Given the description of an element on the screen output the (x, y) to click on. 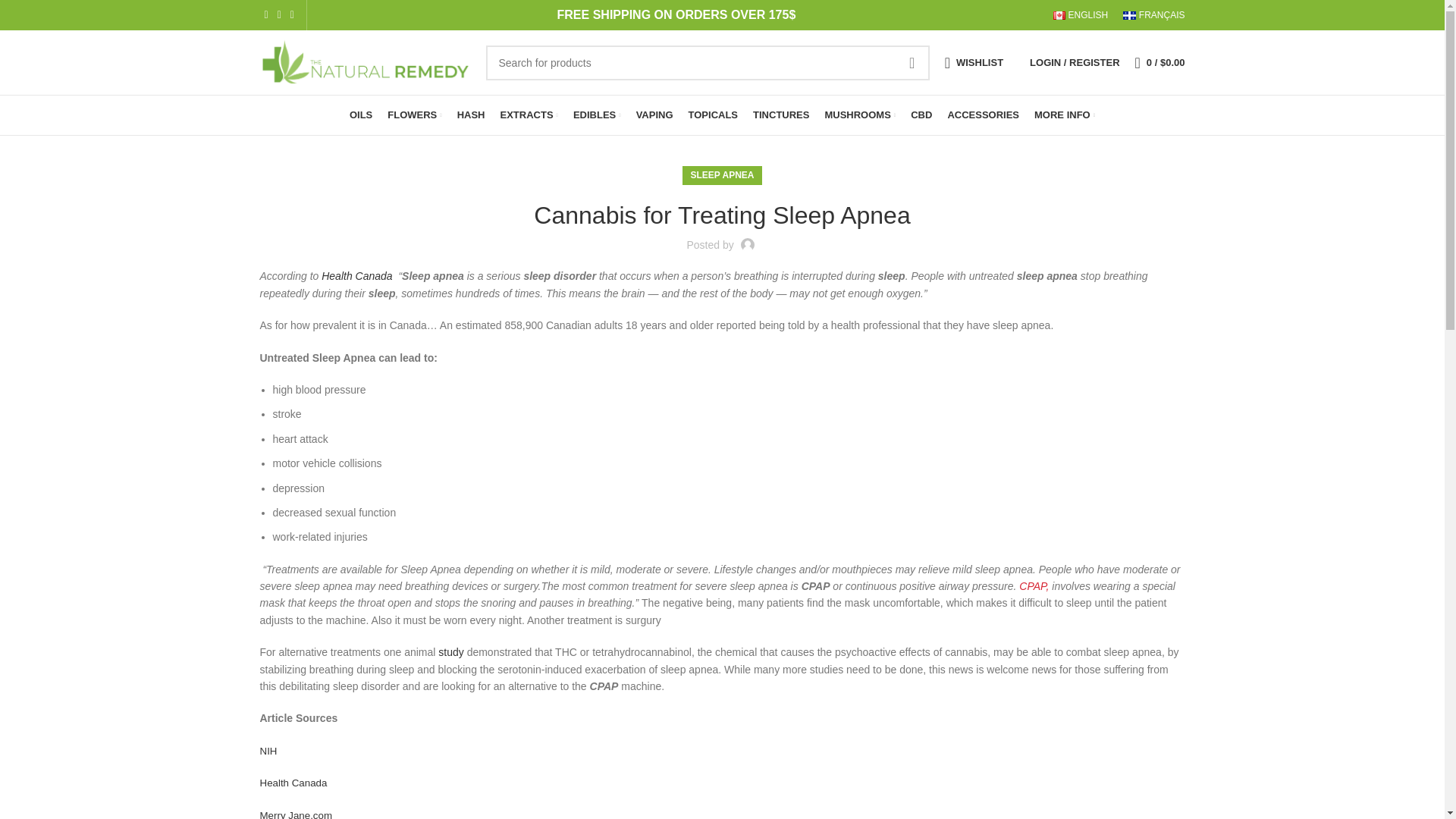
ENGLISH (1080, 15)
HASH (470, 114)
EXTRACTS (528, 114)
My Wishlist (973, 61)
SEARCH (912, 62)
WISHLIST (973, 61)
My account (1074, 61)
FLOWERS (414, 114)
Search for products (706, 62)
Shopping cart (1159, 61)
